Given the description of an element on the screen output the (x, y) to click on. 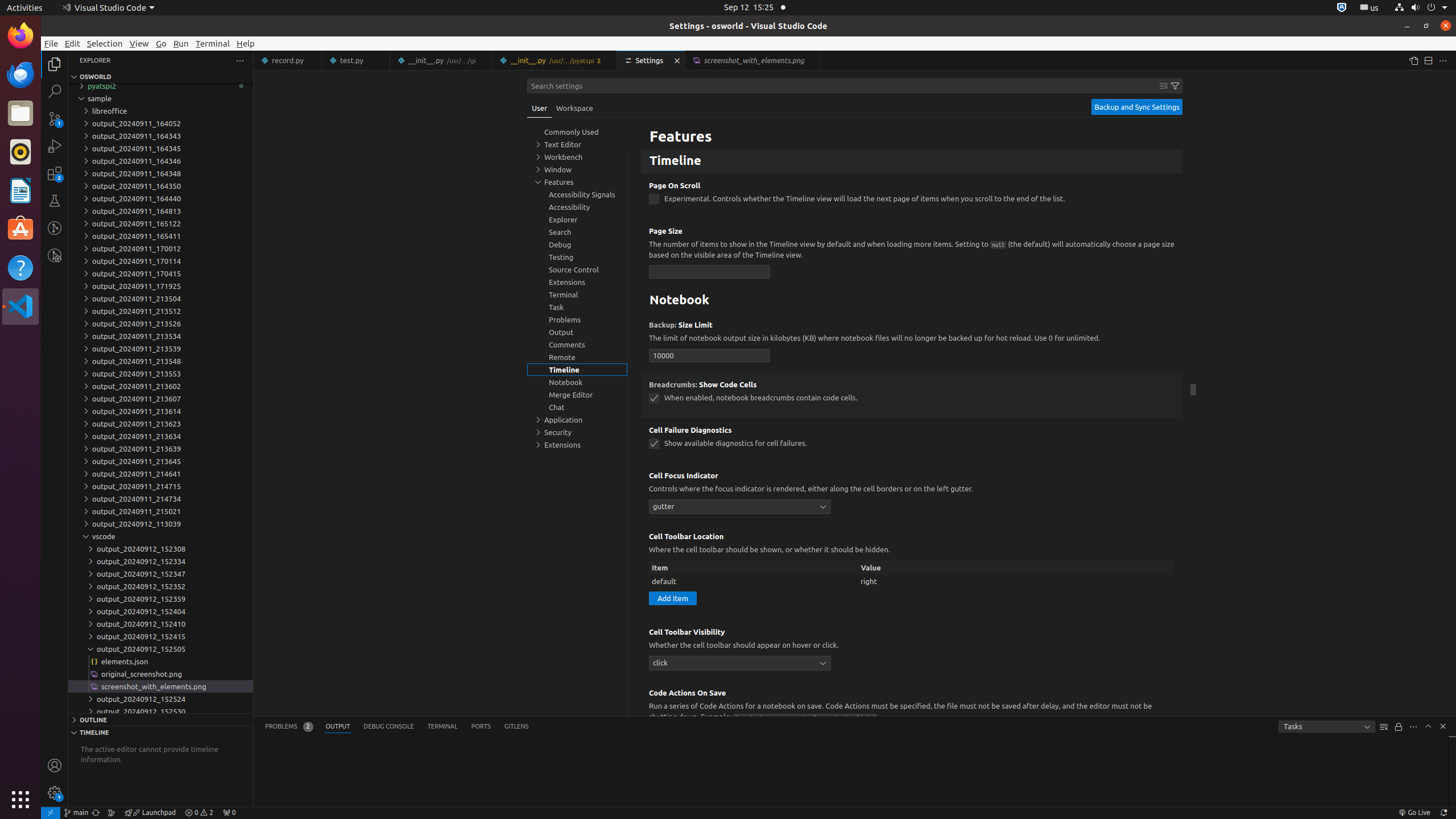
timeline.pageOnScroll Element type: check-box (653, 198)
Window, group Element type: tree-item (577, 169)
output_20240911_164348 Element type: tree-item (160, 173)
Commonly Used, group Element type: tree-item (577, 131)
Extensions (Ctrl+Shift+X) - 2 require restart Extensions (Ctrl+Shift+X) - 2 require restart Element type: page-tab (54, 173)
